Given the description of an element on the screen output the (x, y) to click on. 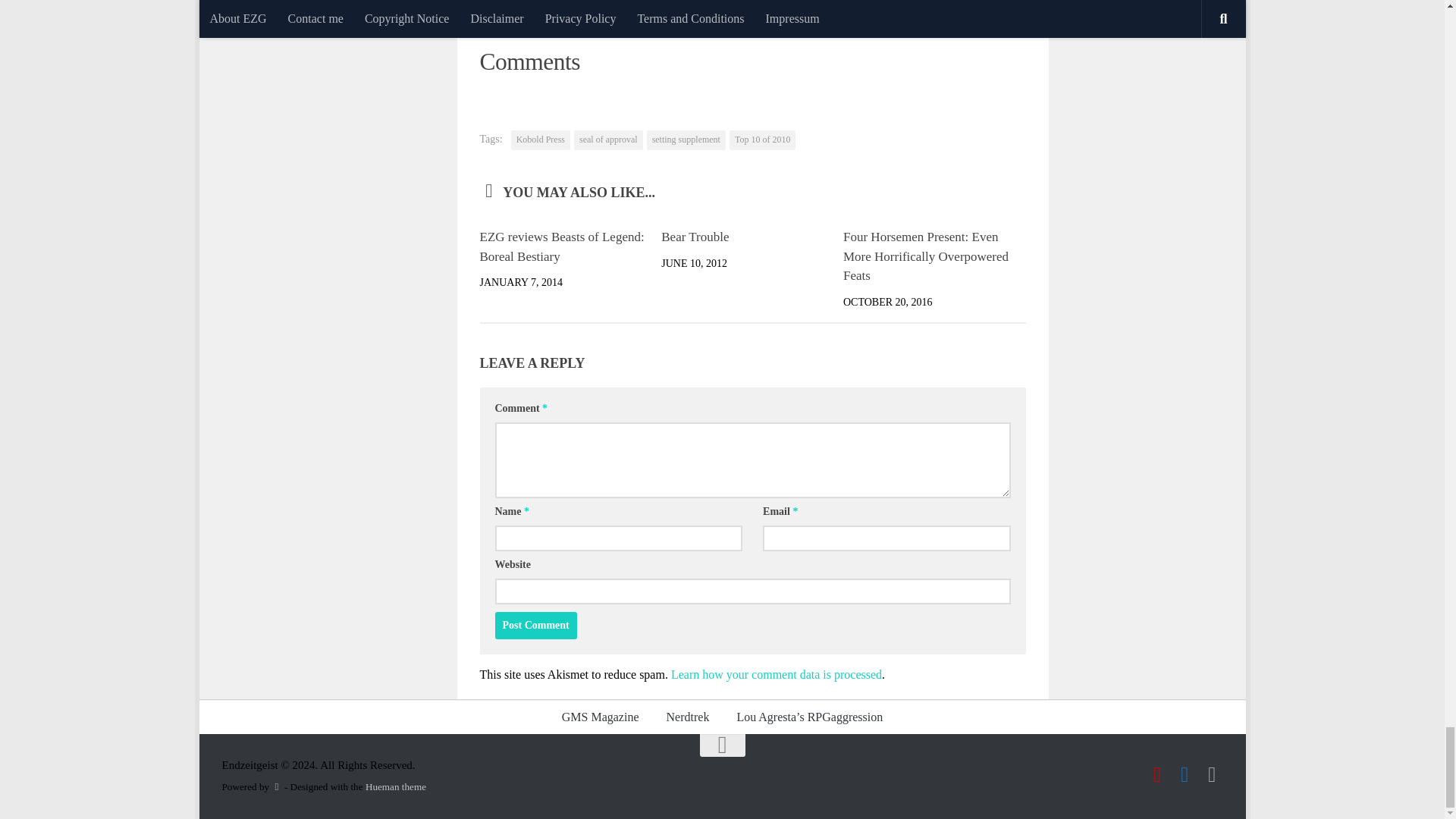
Post Comment (535, 625)
Permalink to Bear Trouble (695, 237)
Permalink to EZG reviews Beasts of Legend: Boreal Bestiary (561, 246)
